Given the description of an element on the screen output the (x, y) to click on. 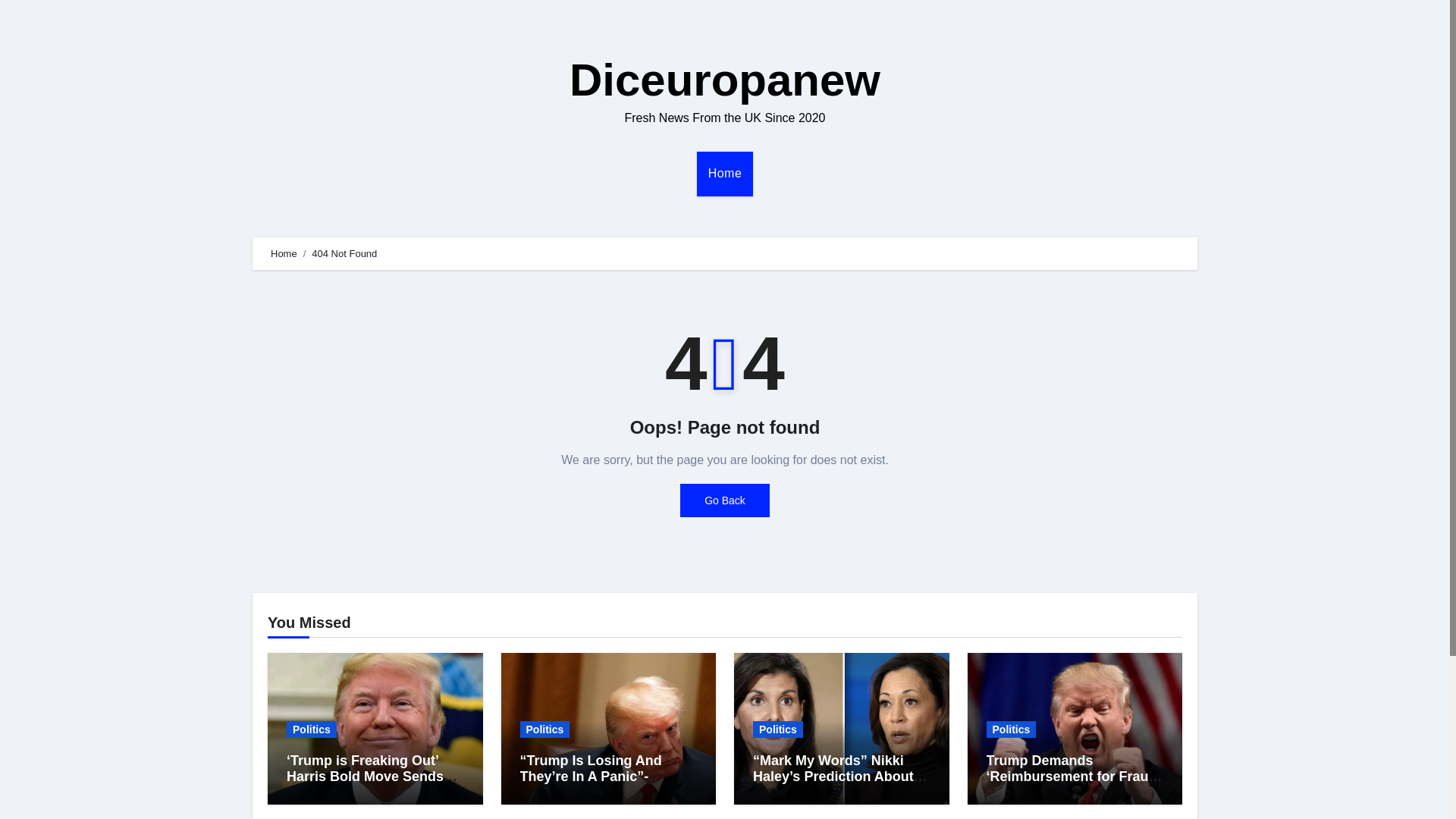
Politics (1010, 729)
Politics (777, 729)
Go Back (724, 500)
Home (725, 173)
Politics (311, 729)
Home (725, 173)
Diceuropanew (724, 79)
Home (283, 253)
Politics (544, 729)
